Given the description of an element on the screen output the (x, y) to click on. 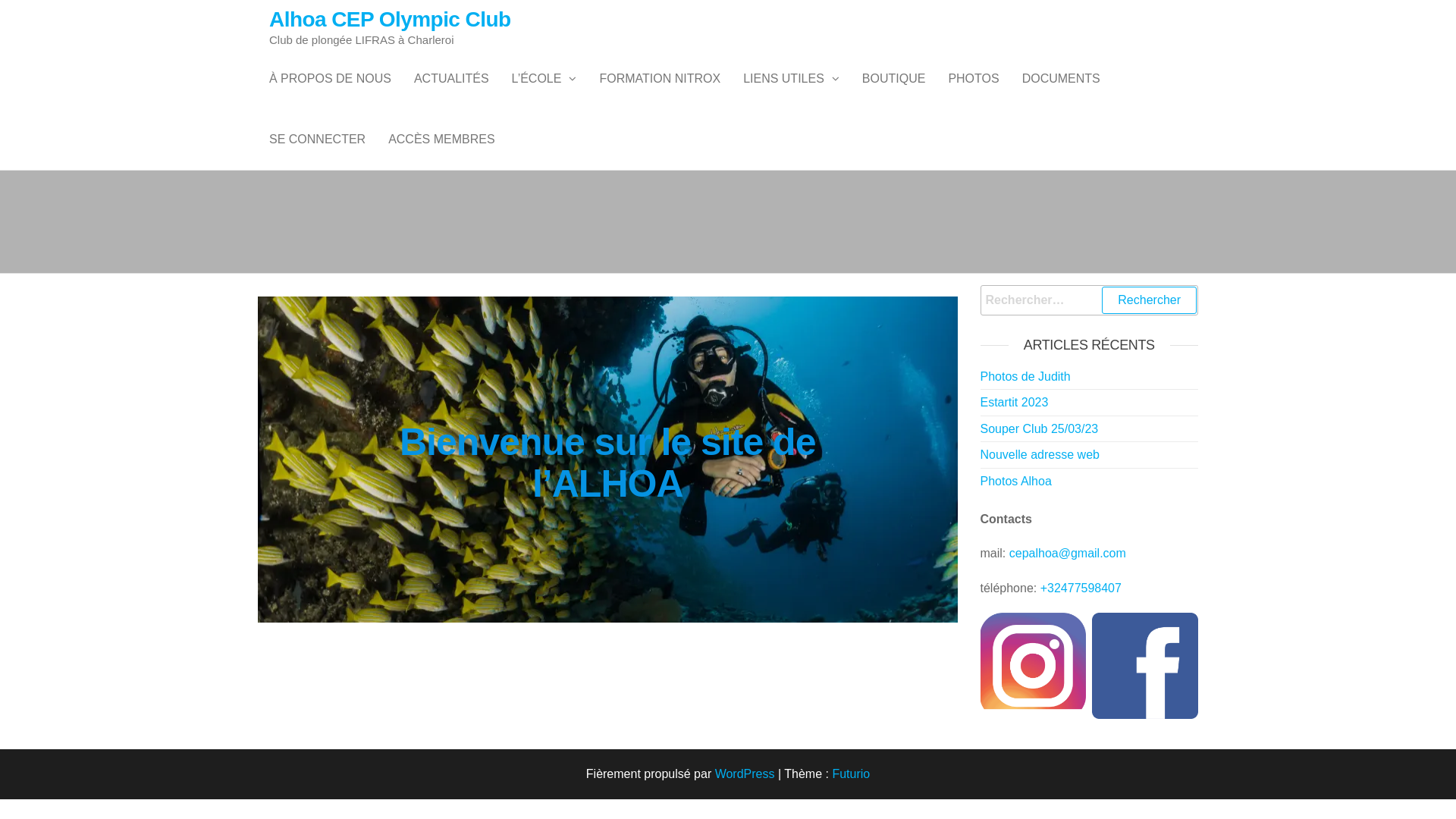
PHOTOS Element type: text (973, 78)
Rechercher Element type: text (1148, 299)
BOUTIQUE Element type: text (893, 78)
Futurio Element type: text (850, 773)
Alhoa CEP Olympic Club Element type: text (390, 19)
Photos de Judith Element type: text (1024, 376)
LIENS UTILES Element type: text (790, 78)
Estartit 2023 Element type: text (1013, 401)
FORMATION NITROX Element type: text (659, 78)
SE CONNECTER Element type: text (316, 139)
DOCUMENTS Element type: text (1060, 78)
+32477598407 Element type: text (1080, 587)
Souper Club 25/03/23 Element type: text (1038, 428)
WordPress Element type: text (745, 773)
Photos Alhoa Element type: text (1015, 480)
Nouvelle adresse web Element type: text (1038, 454)
cepalhoa@gmail.com Element type: text (1067, 552)
